Given the description of an element on the screen output the (x, y) to click on. 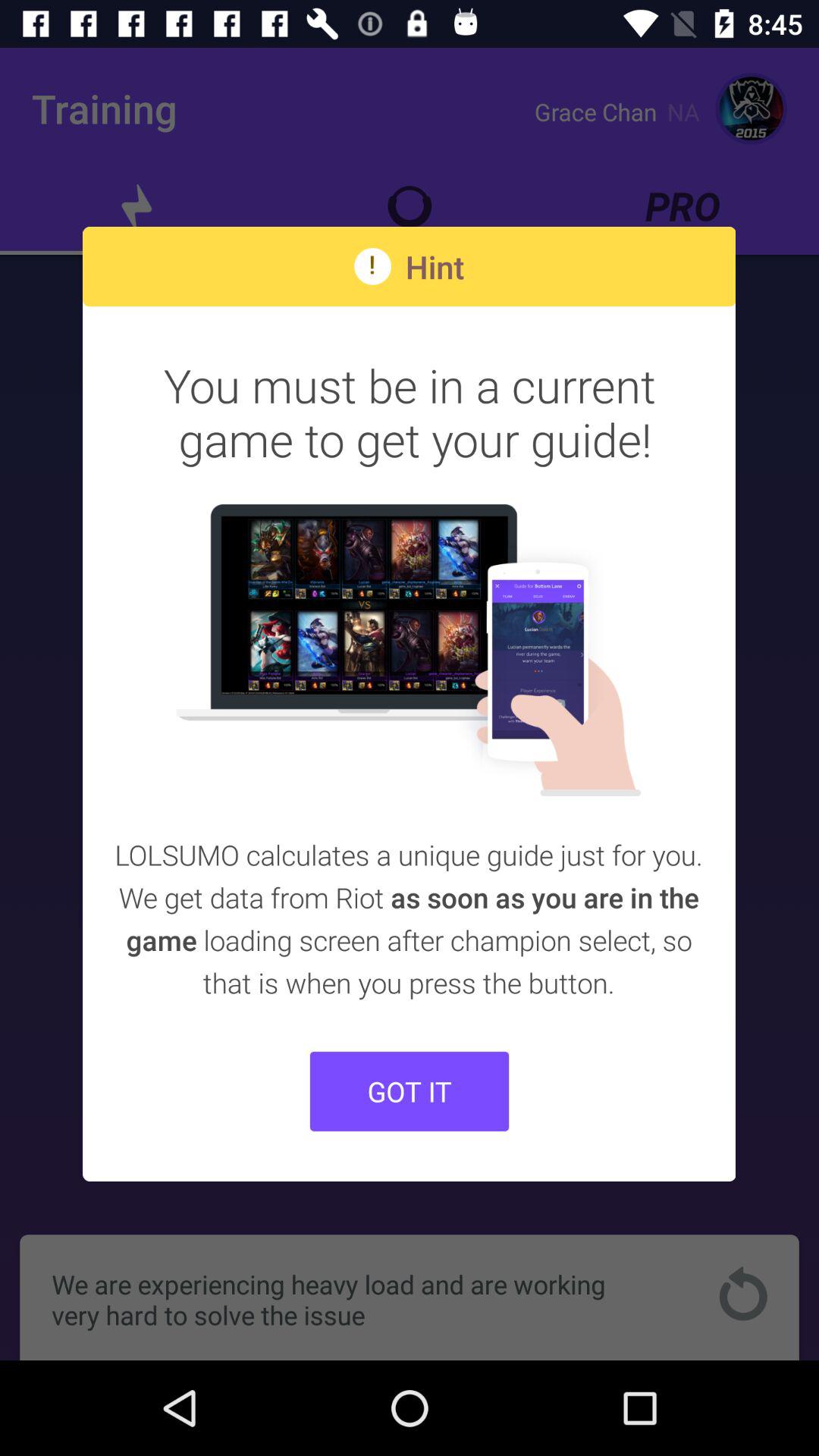
tap the got it (409, 1091)
